Given the description of an element on the screen output the (x, y) to click on. 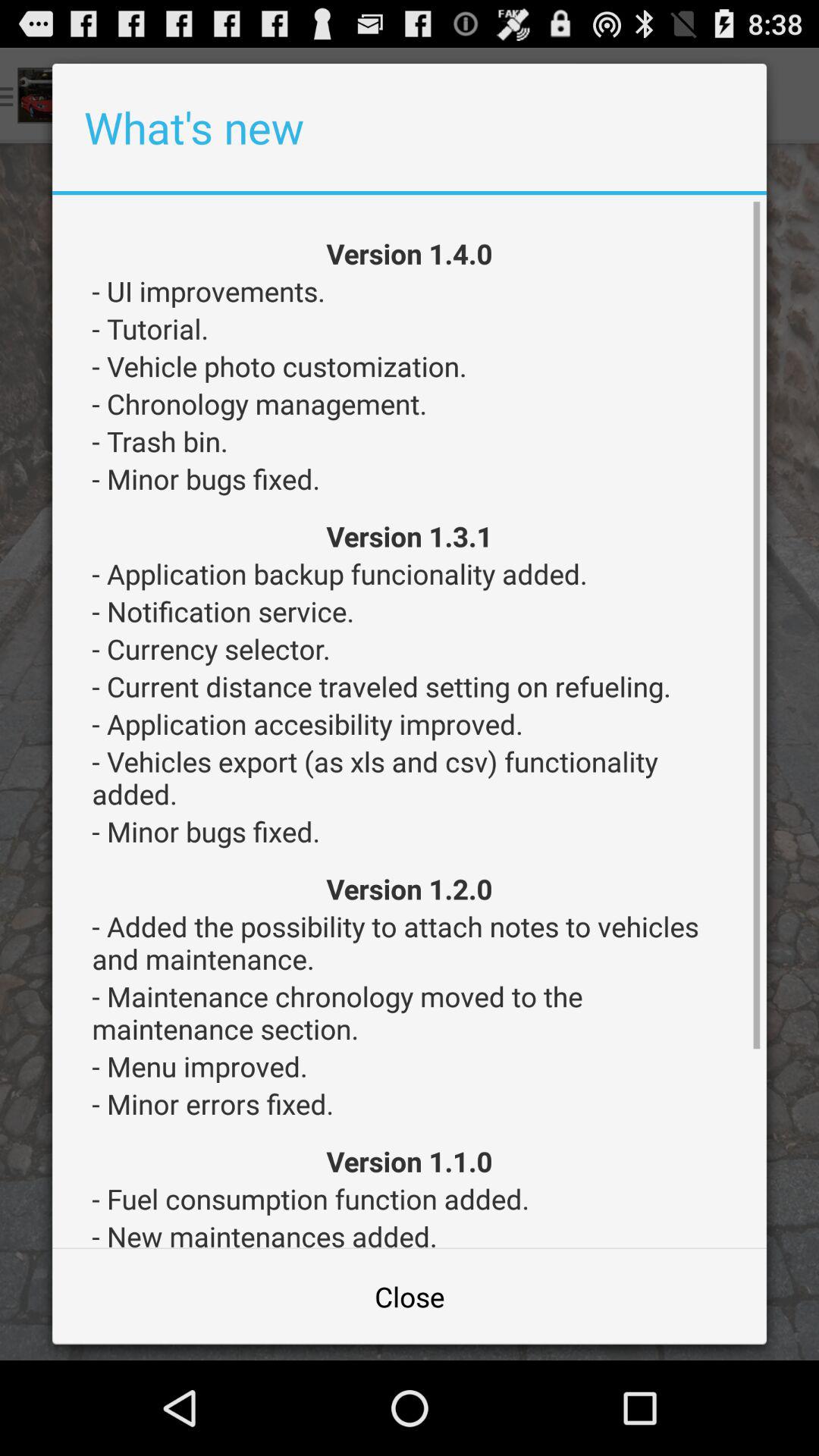
open the app below - new maintenances added. item (409, 1296)
